Given the description of an element on the screen output the (x, y) to click on. 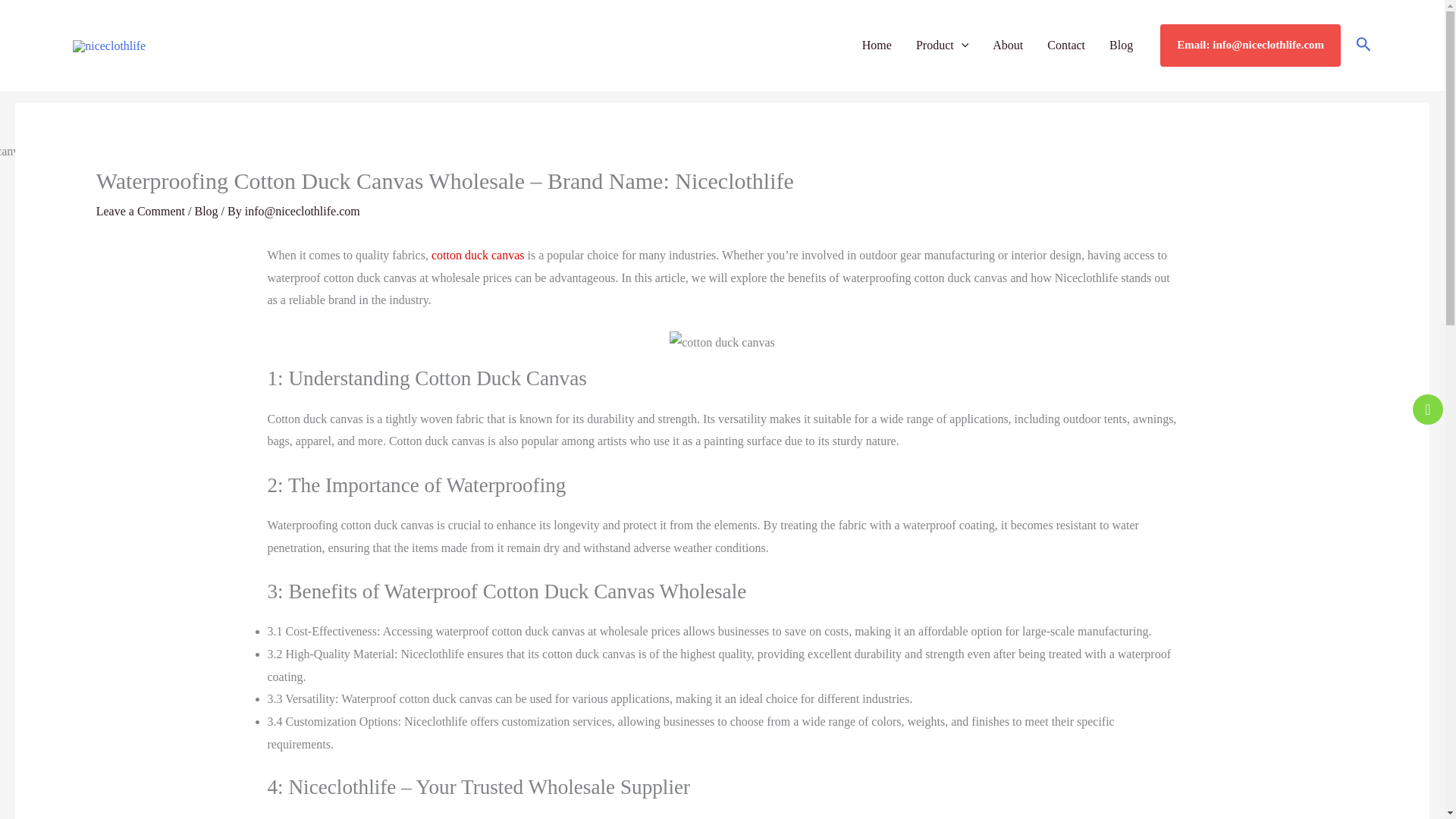
cotton duck canvas (477, 254)
Blog (204, 210)
Leave a Comment (140, 210)
